Given the description of an element on the screen output the (x, y) to click on. 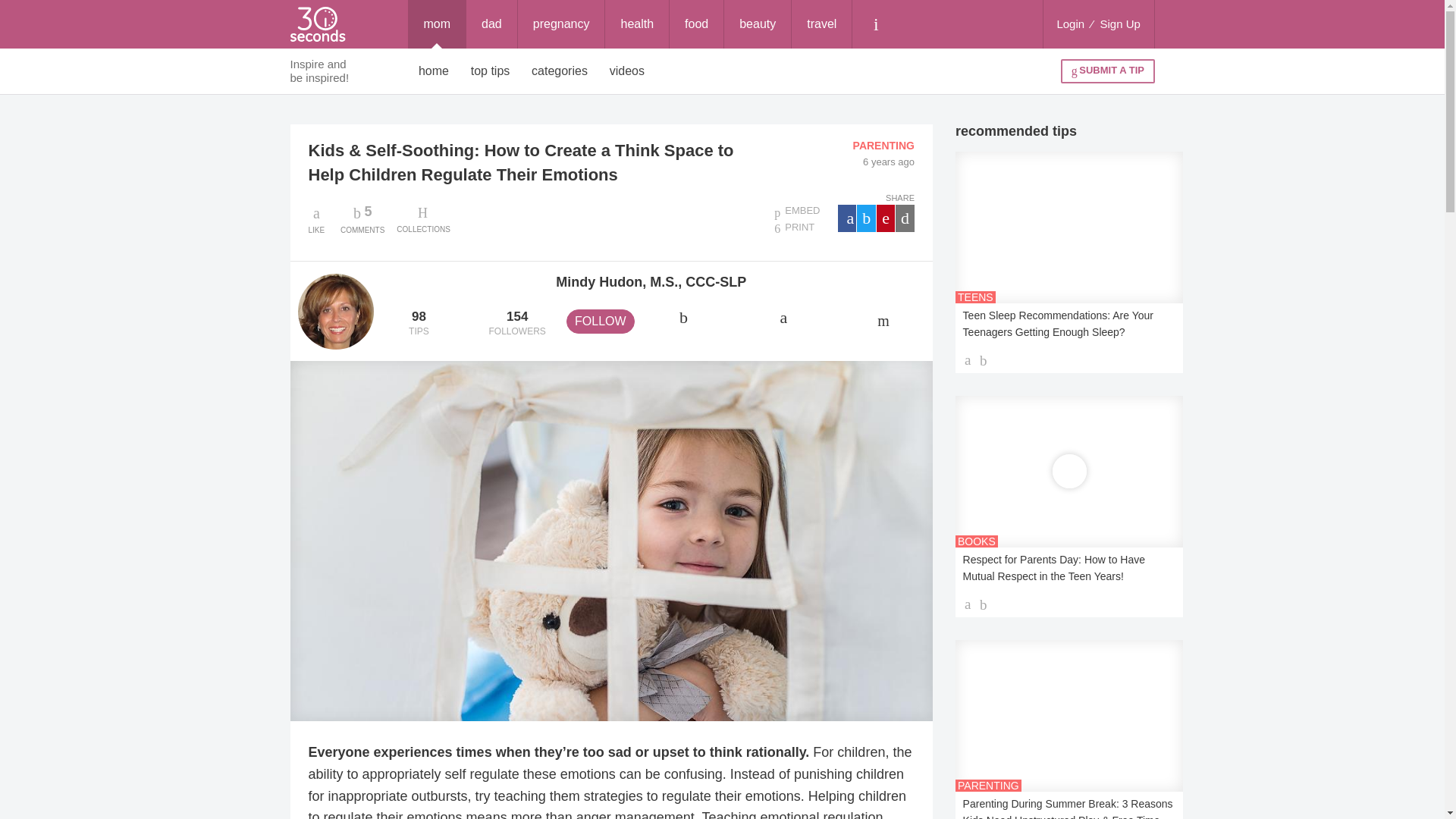
top tips (489, 71)
mom (436, 24)
travel (821, 24)
home (433, 71)
categories (559, 71)
Sign Up (362, 218)
pregnancy (1120, 23)
health (561, 24)
dad (636, 24)
food (490, 24)
beauty (696, 24)
Login (756, 24)
